Given the description of an element on the screen output the (x, y) to click on. 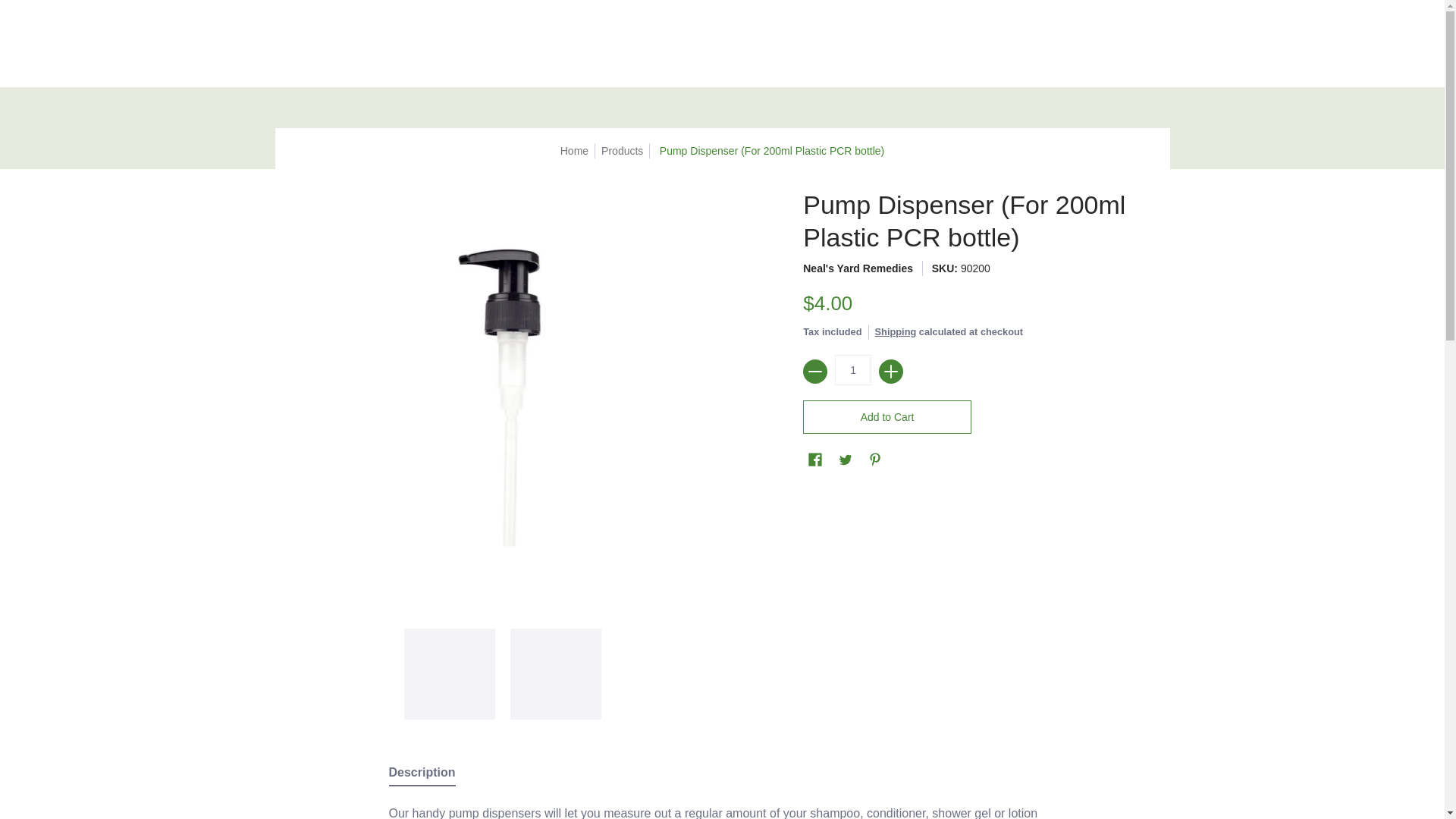
1 (852, 369)
